Given the description of an element on the screen output the (x, y) to click on. 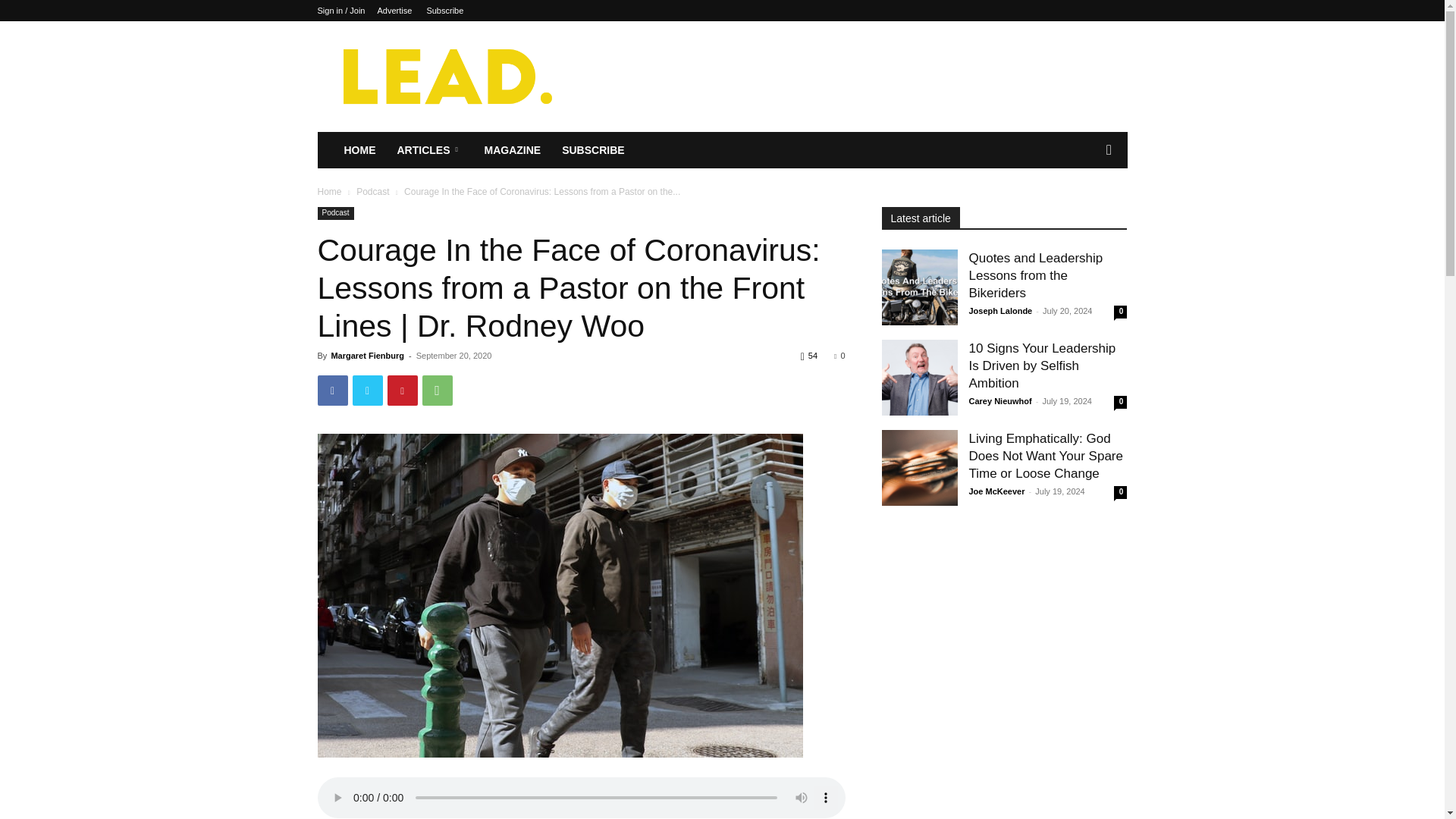
Twitter (366, 390)
SUBSCRIBE (592, 149)
Advertise (394, 10)
Search (1085, 210)
Podcast (335, 213)
Subscribe (444, 10)
ARTICLES (430, 149)
Lead Magazine (445, 76)
Pinterest (401, 390)
HOME (360, 149)
WhatsApp (436, 390)
Podcast (372, 191)
View all posts in Podcast (372, 191)
Home (328, 191)
